Given the description of an element on the screen output the (x, y) to click on. 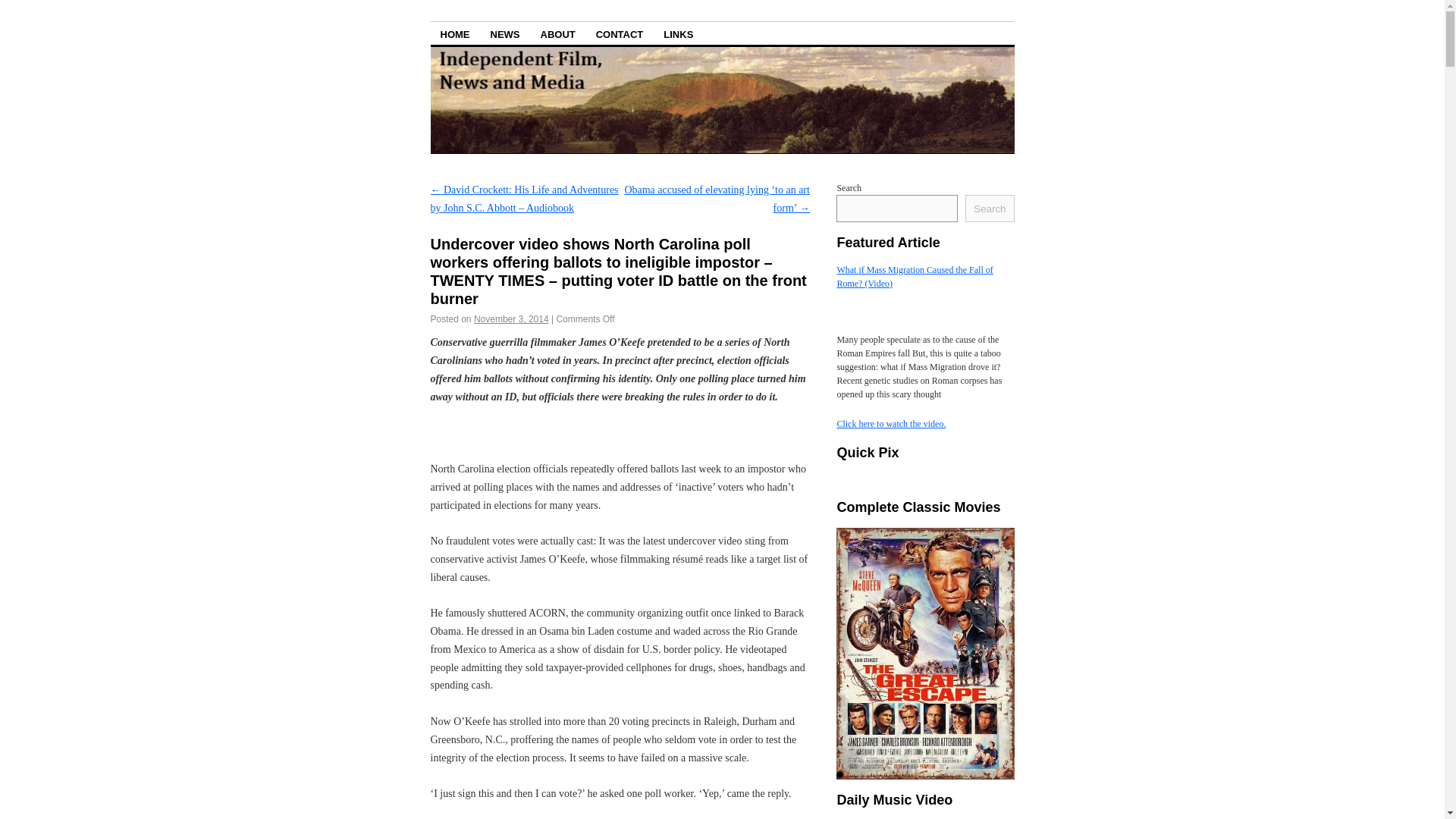
CONTACT (619, 33)
ABOUT (558, 33)
NEWS (504, 33)
November 3, 2014 (511, 318)
LINKS (678, 33)
Search (989, 207)
HOME (455, 33)
Click here to watch the video. (889, 423)
8:30 am (511, 318)
